Given the description of an element on the screen output the (x, y) to click on. 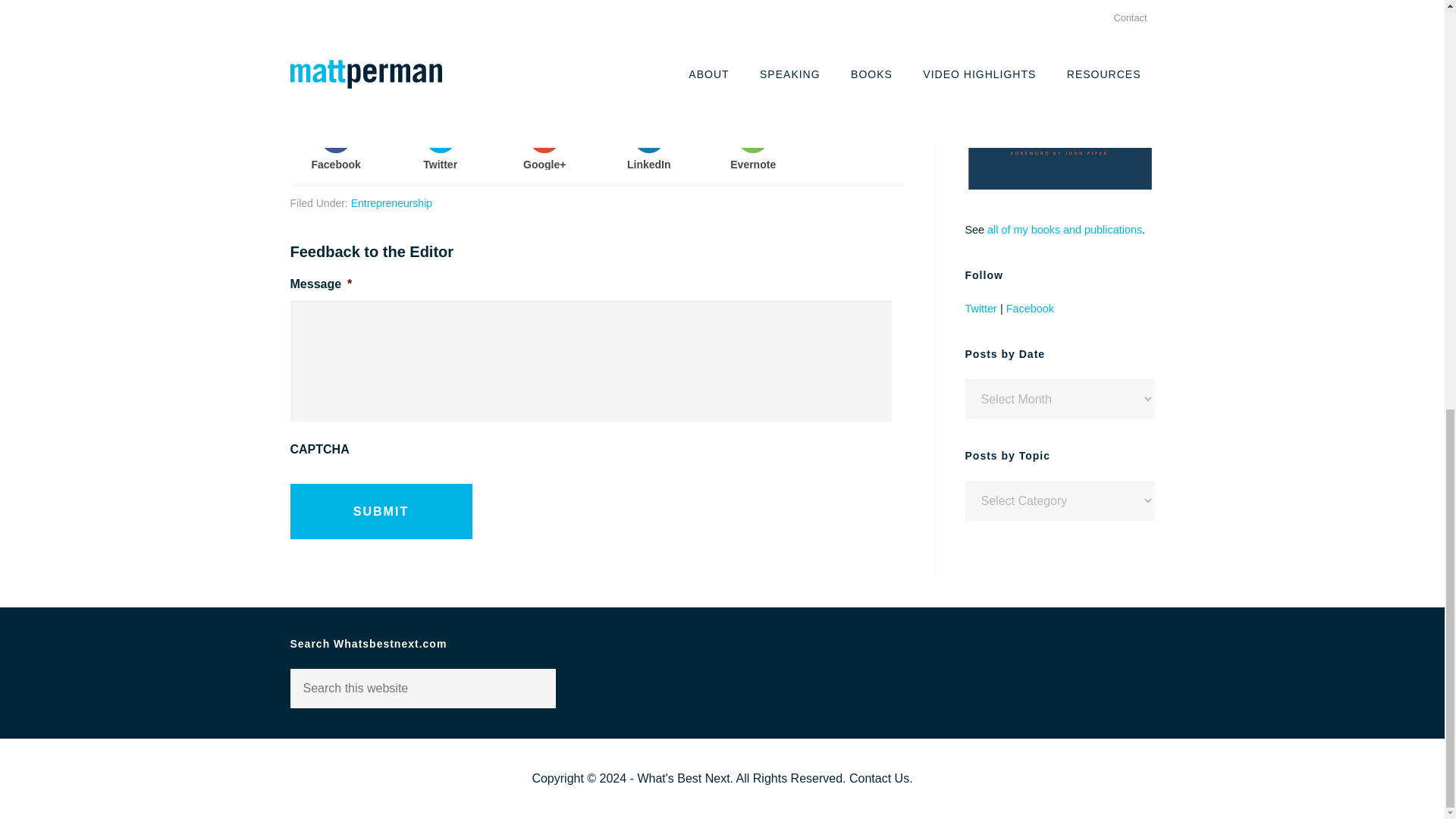
Evernote (753, 145)
Submit (380, 511)
LinkedIn (648, 145)
Contact Us (878, 778)
Twitter (979, 308)
Entrepreneurship (391, 203)
Facebook (1030, 308)
all of my books and publications (1064, 229)
Facebook (335, 145)
Twitter (440, 145)
Submit (380, 511)
